Given the description of an element on the screen output the (x, y) to click on. 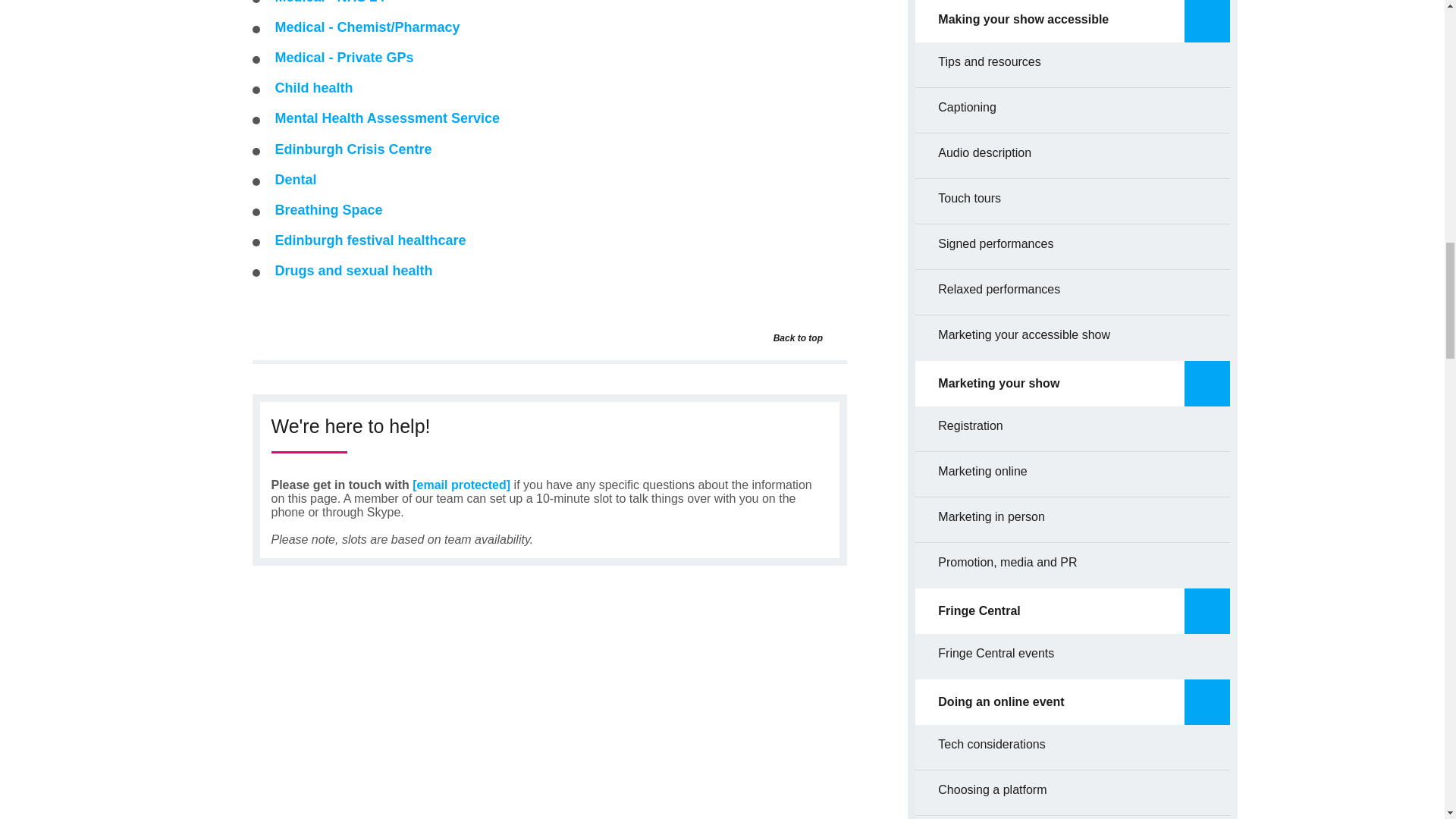
Back to top (833, 338)
